Given the description of an element on the screen output the (x, y) to click on. 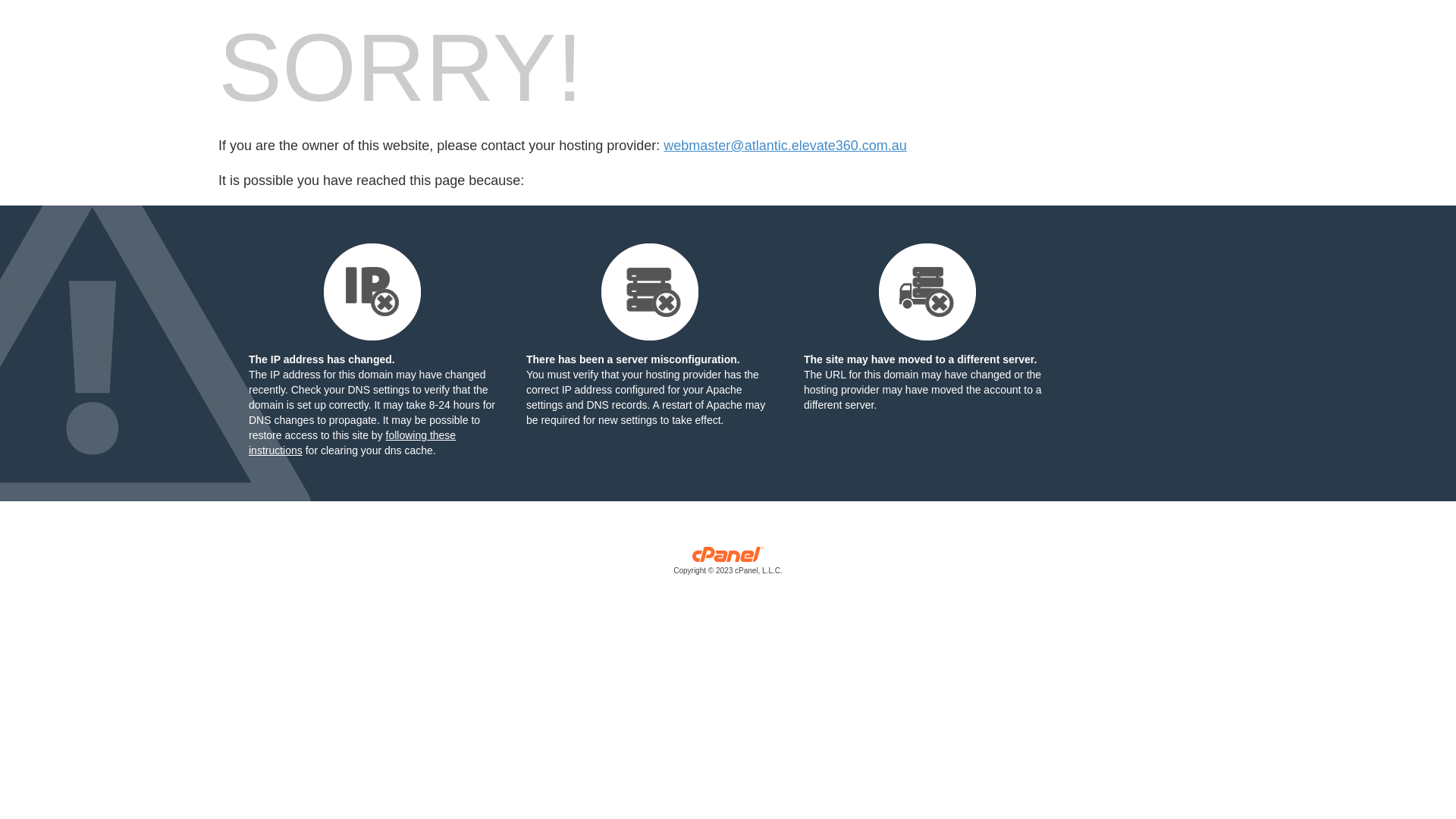
following these instructions Element type: text (351, 442)
webmaster@atlantic.elevate360.com.au Element type: text (784, 145)
